Given the description of an element on the screen output the (x, y) to click on. 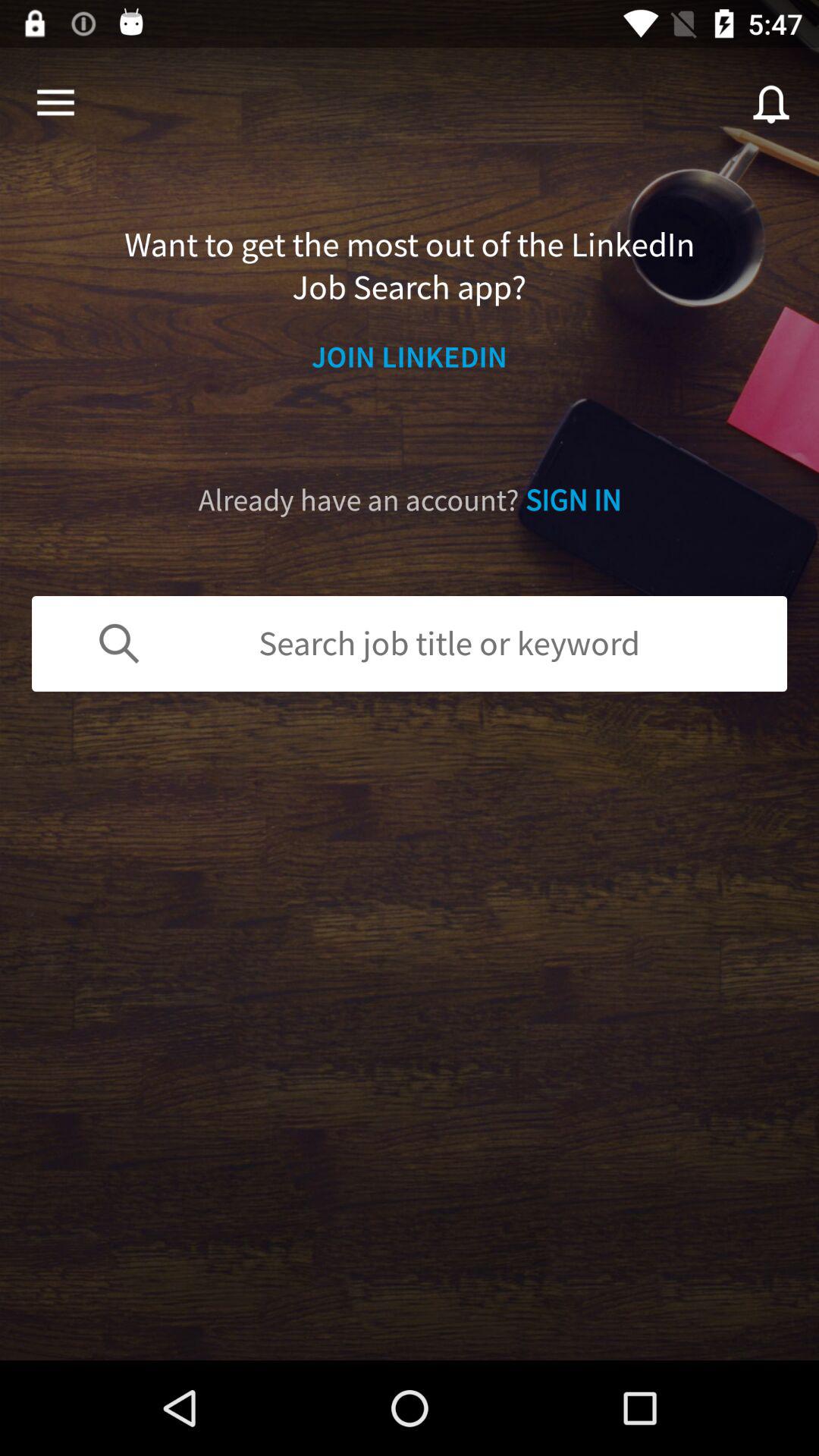
press the already have an (409, 500)
